Given the description of an element on the screen output the (x, y) to click on. 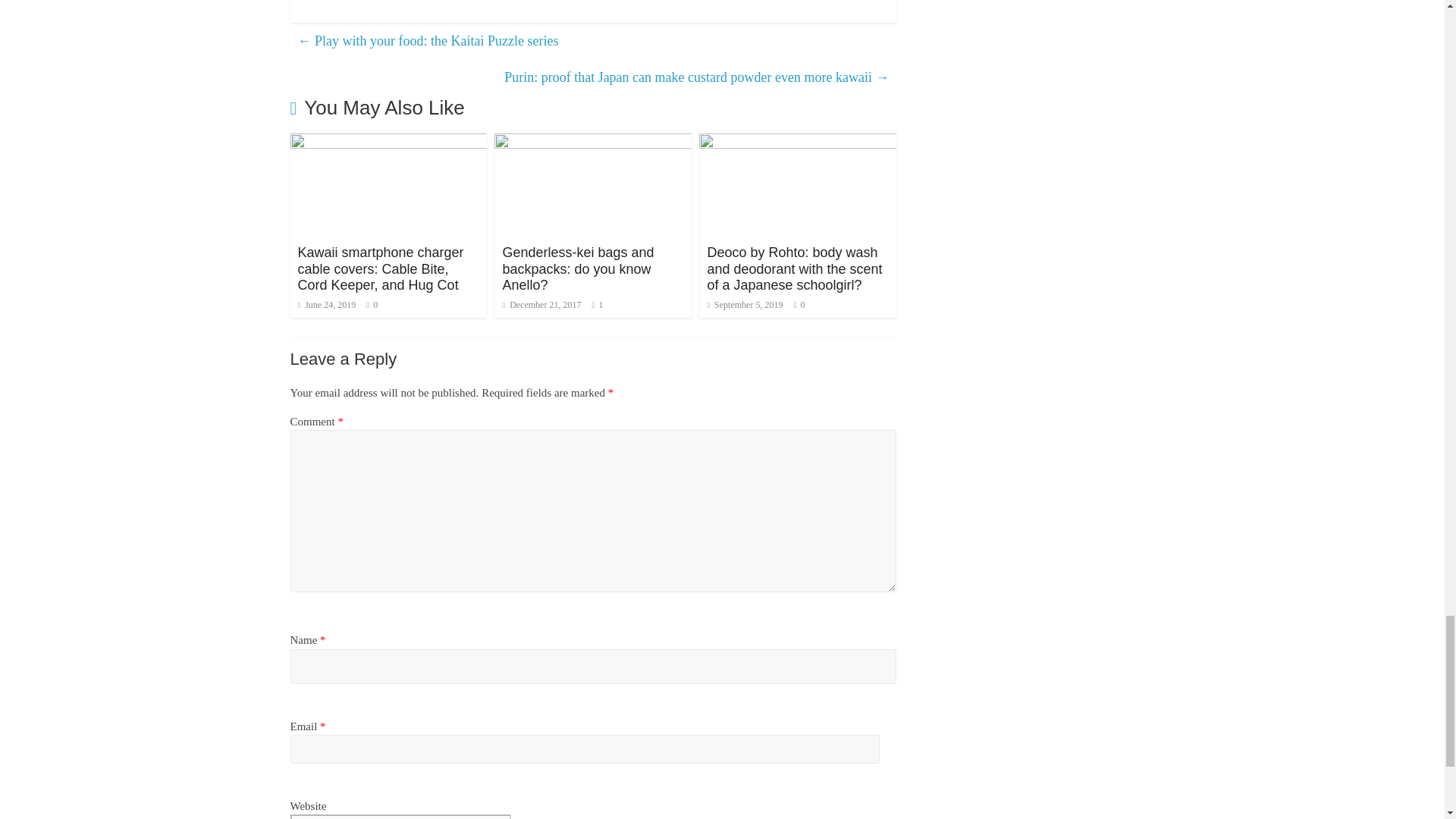
00:00 (541, 304)
Genderless-kei bags and backpacks: do you know Anello? (577, 268)
Genderless-kei bags and backpacks: do you know Anello? (593, 142)
00:00 (326, 304)
